Given the description of an element on the screen output the (x, y) to click on. 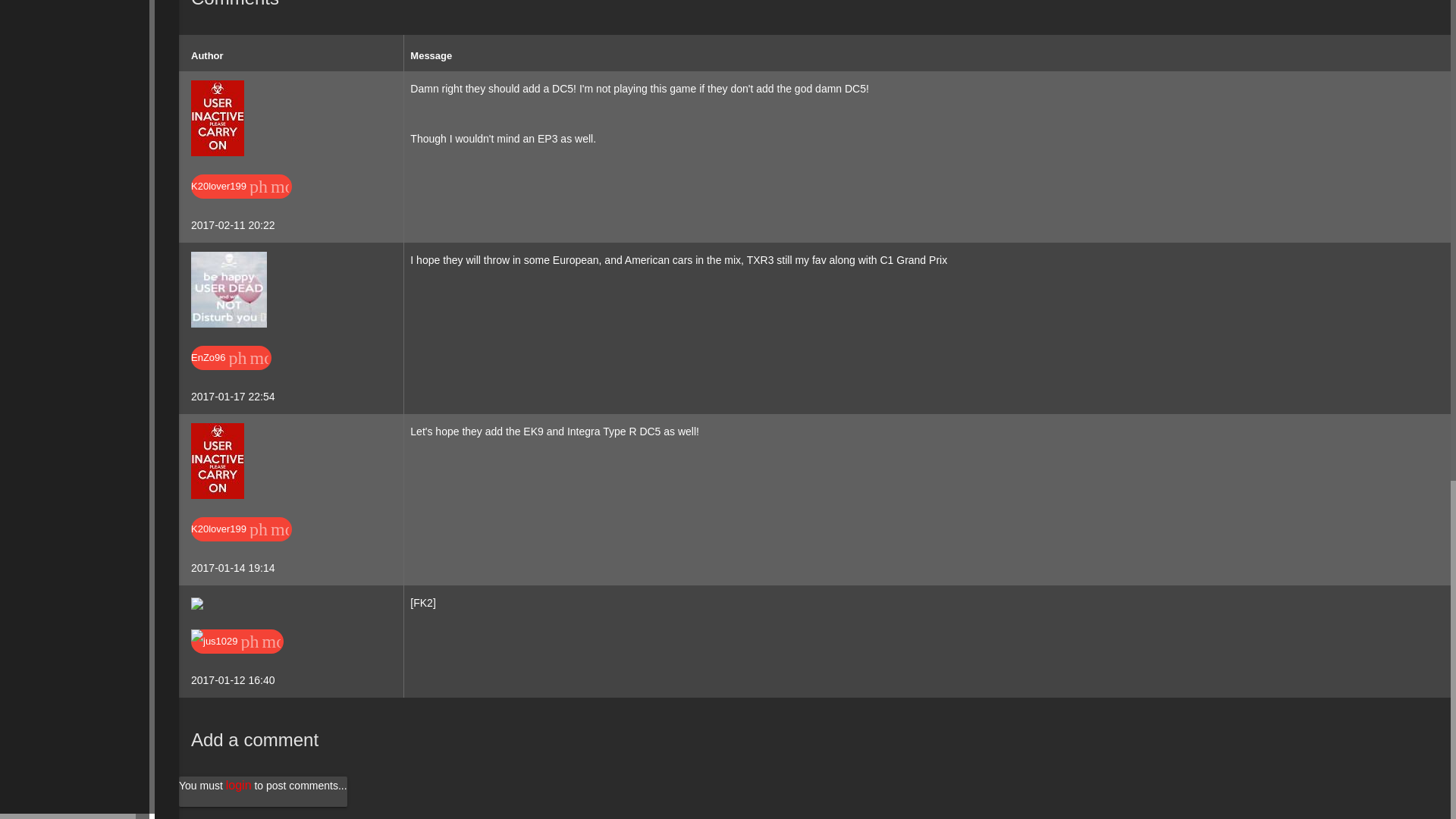
User contributions (290, 641)
User contributions (298, 529)
Comments posted (329, 529)
User contributions (298, 186)
Comments posted (321, 641)
Comments posted (329, 186)
login (238, 784)
Comments posted (309, 357)
User contributions (278, 357)
